Given the description of an element on the screen output the (x, y) to click on. 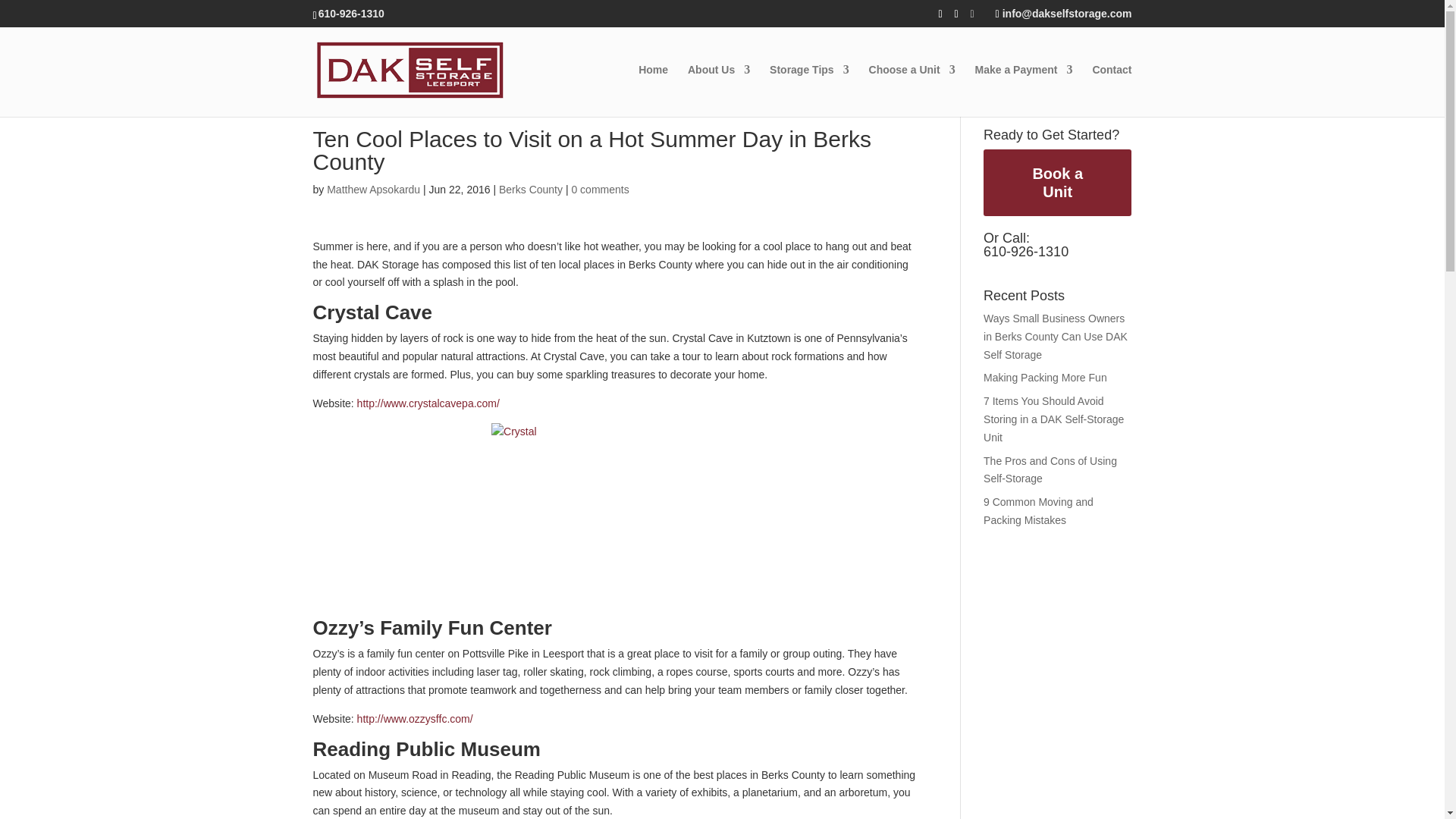
Choose a Unit (912, 90)
Posts by Matthew Apsokardu (373, 189)
Home (653, 90)
Contact (1111, 90)
Storage Tips (809, 90)
About Us (718, 90)
Make a Payment (1024, 90)
